Given the description of an element on the screen output the (x, y) to click on. 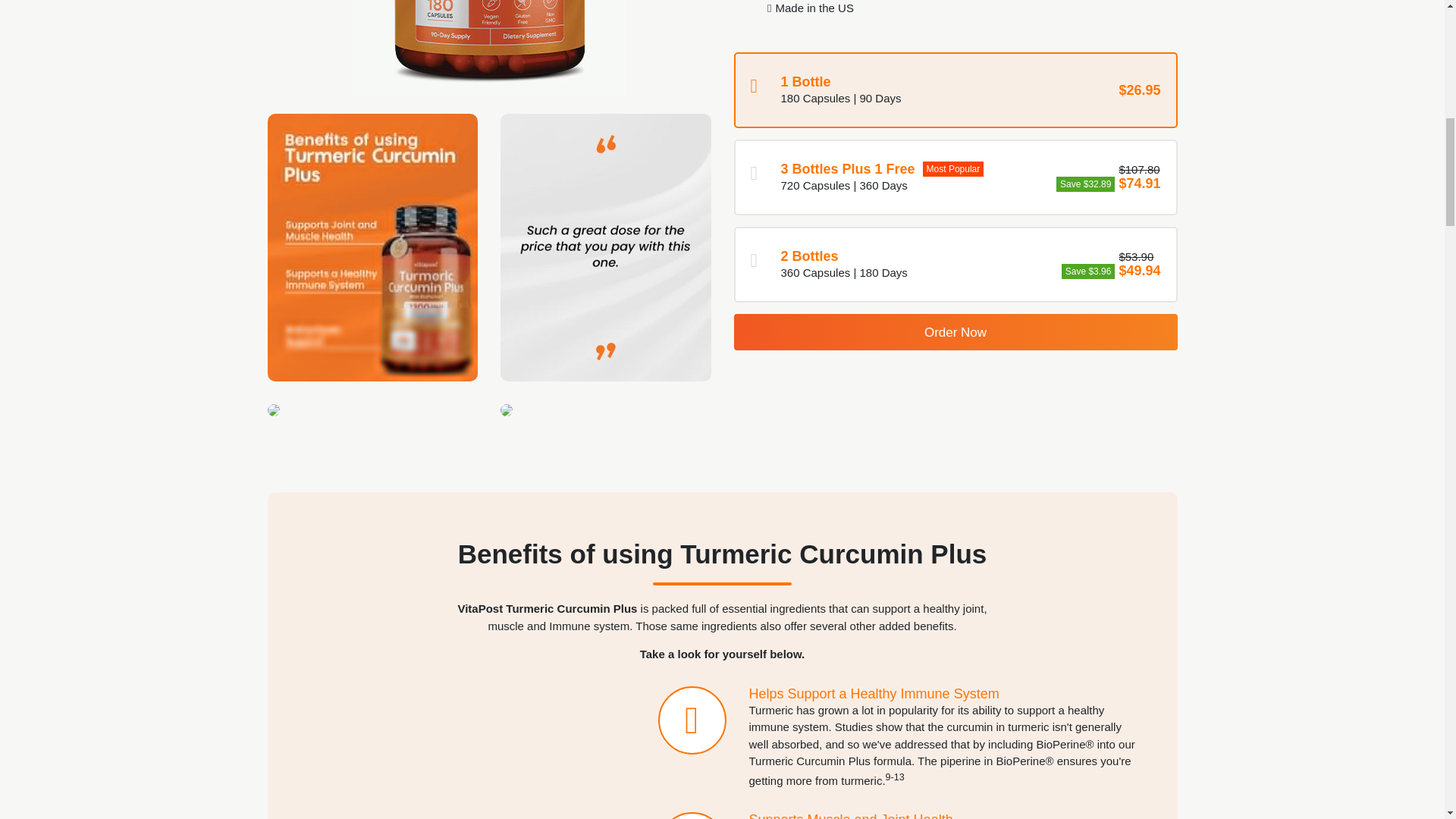
Order Now (955, 331)
